Given the description of an element on the screen output the (x, y) to click on. 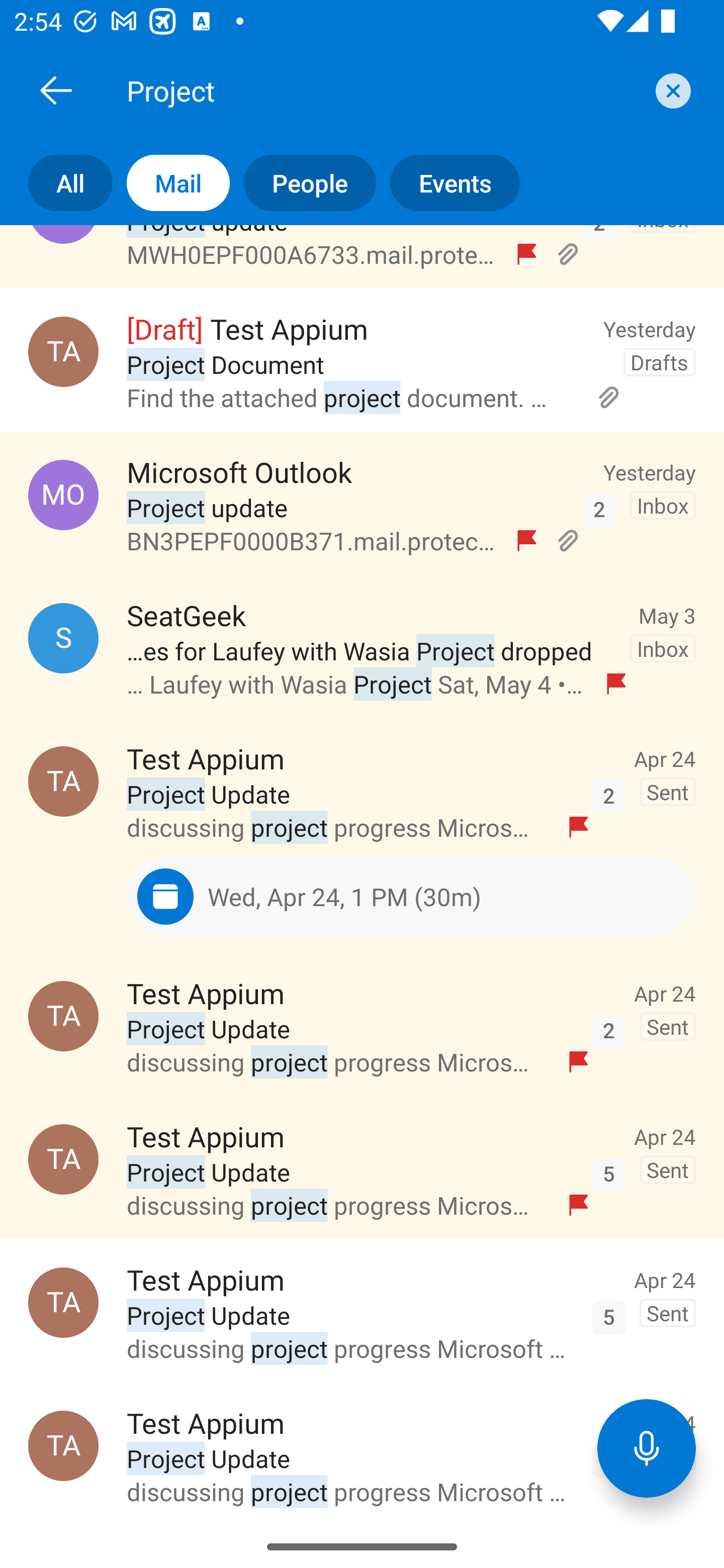
Back (55, 89)
Project (384, 89)
clear search (670, 90)
All (56, 183)
People (302, 183)
Events (447, 183)
Voice Assistant (646, 1447)
